Given the description of an element on the screen output the (x, y) to click on. 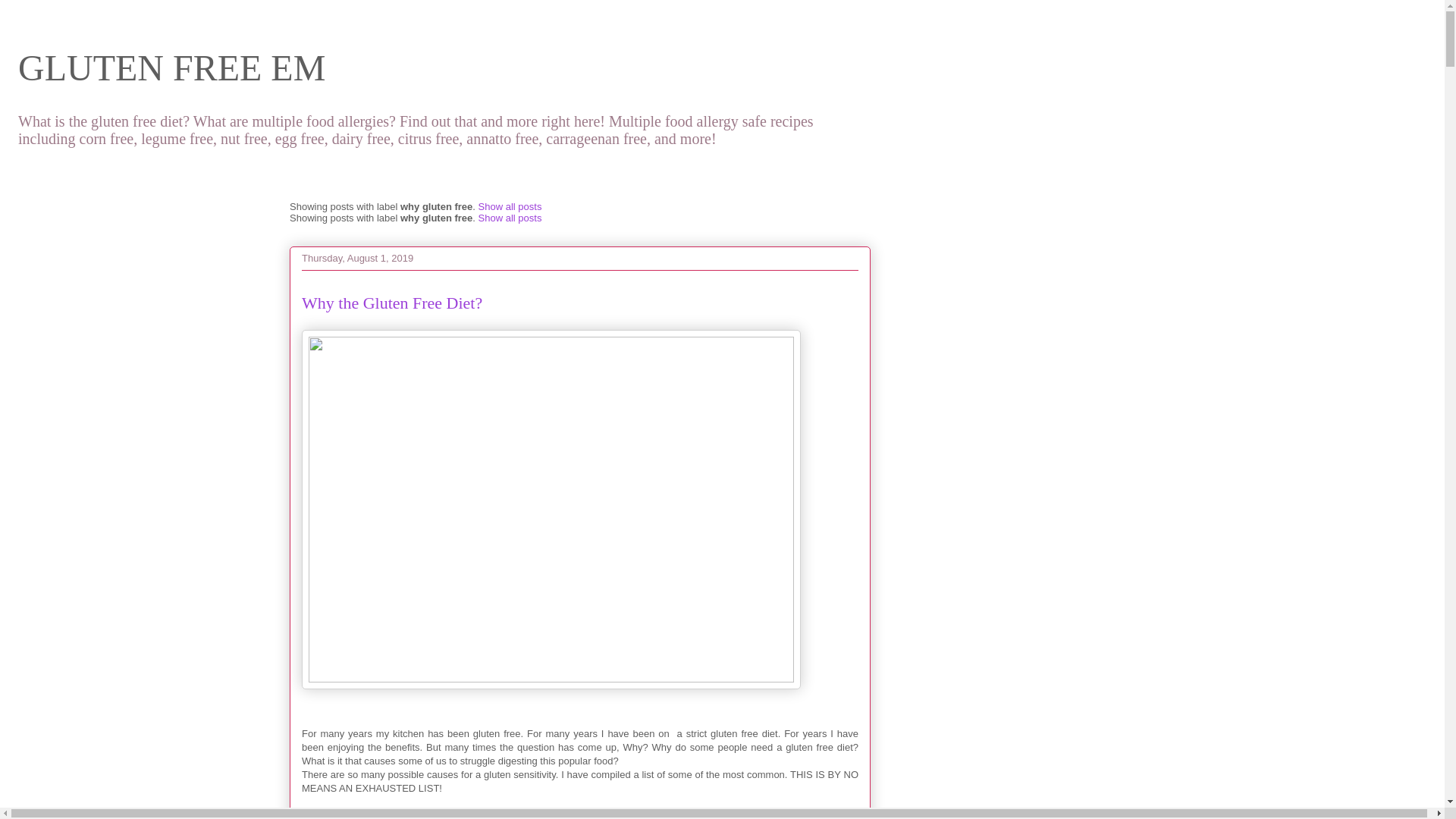
Show all posts (510, 217)
Show all posts (510, 206)
Why the Gluten Free Diet? (391, 302)
GLUTEN FREE EM (170, 67)
